Given the description of an element on the screen output the (x, y) to click on. 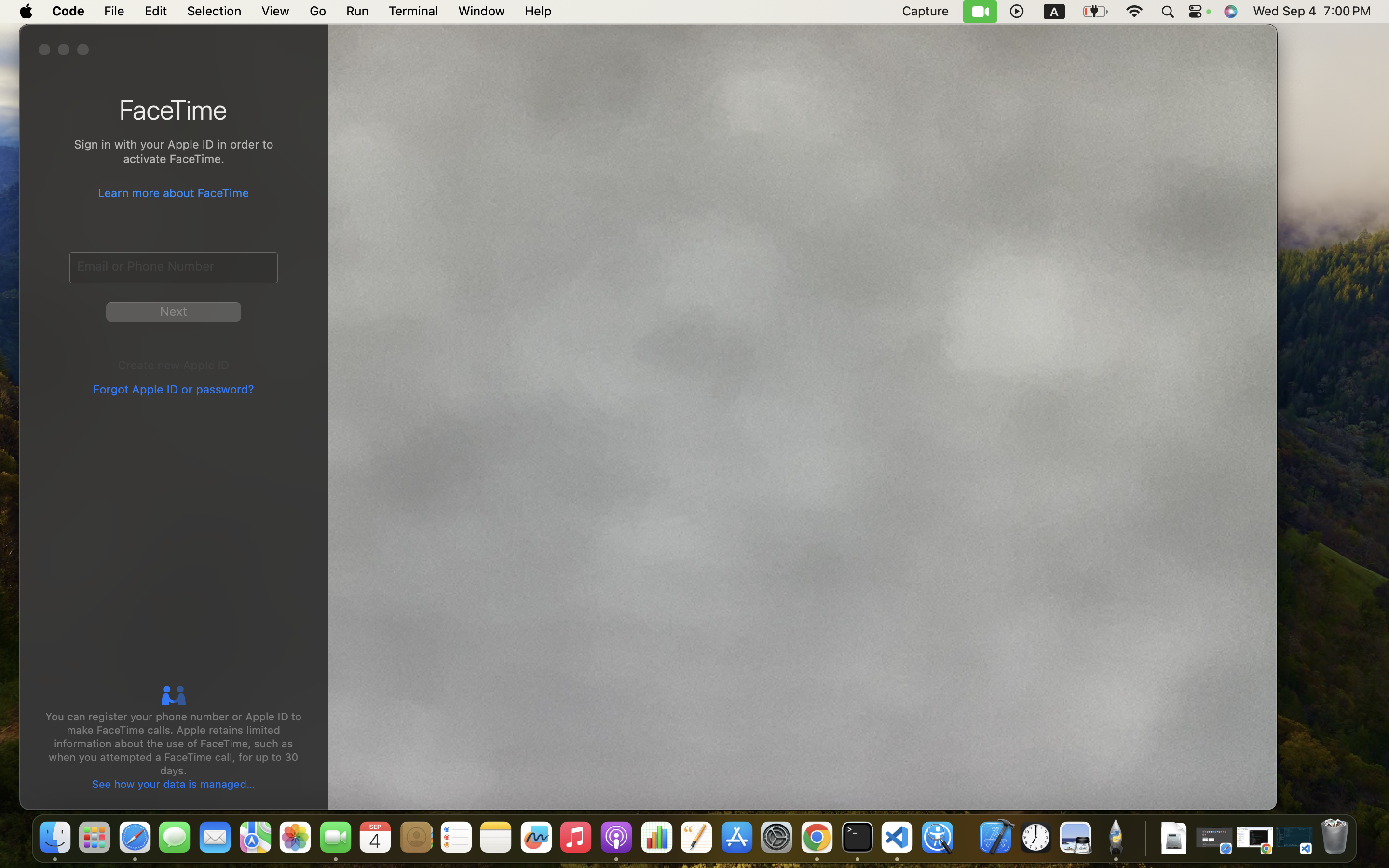
Sign in with your Apple ID in order to activate FaceTime. Element type: AXStaticText (173, 152)
0.4285714328289032 Element type: AXDockItem (965, 837)
FaceTime Element type: AXStaticText (173, 109)
